Given the description of an element on the screen output the (x, y) to click on. 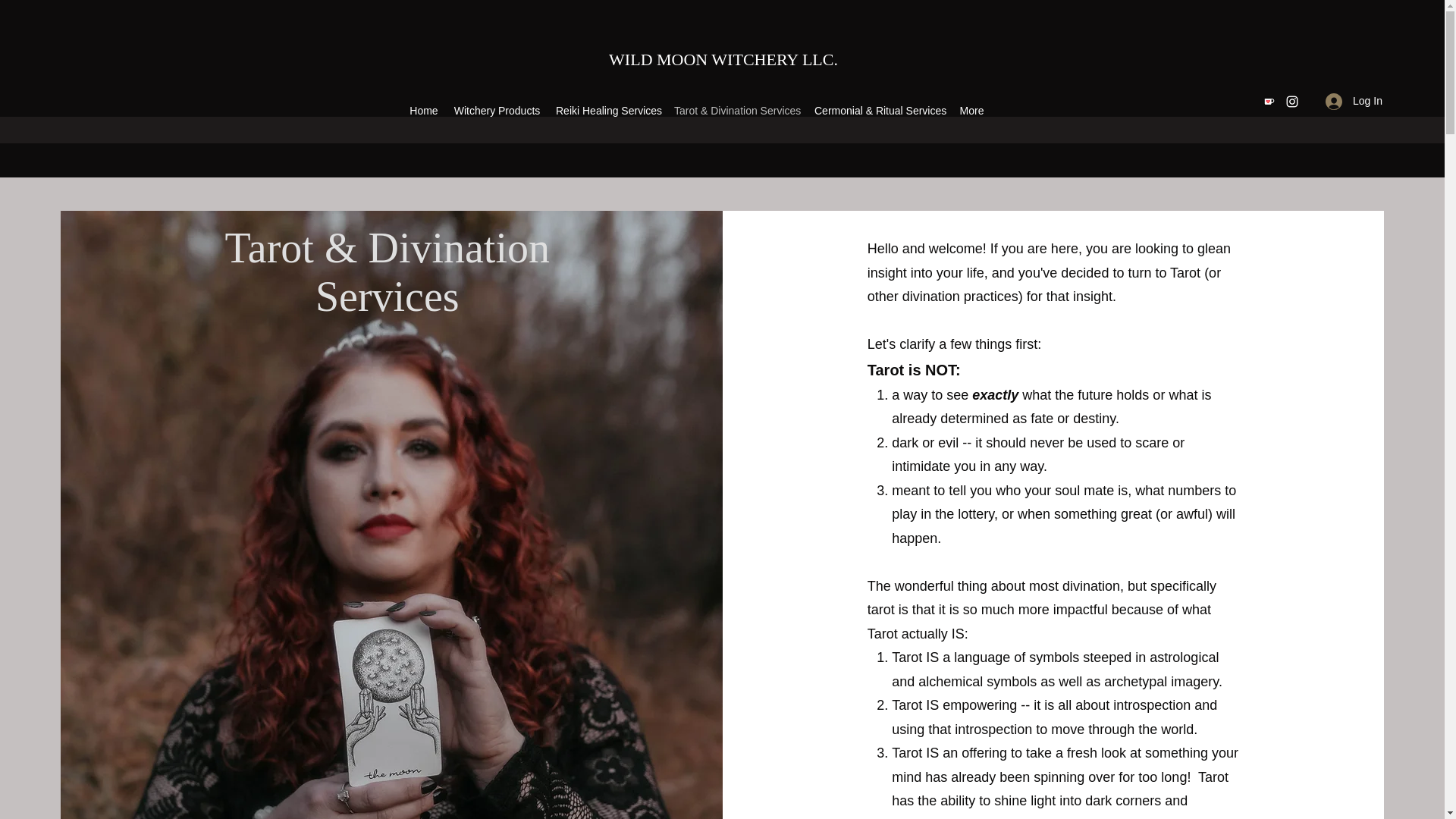
Witchery Products (496, 110)
Reiki Healing Services (607, 110)
Log In (1353, 100)
WILD MOON WITCHERY LLC. (723, 58)
Home (423, 110)
